Given the description of an element on the screen output the (x, y) to click on. 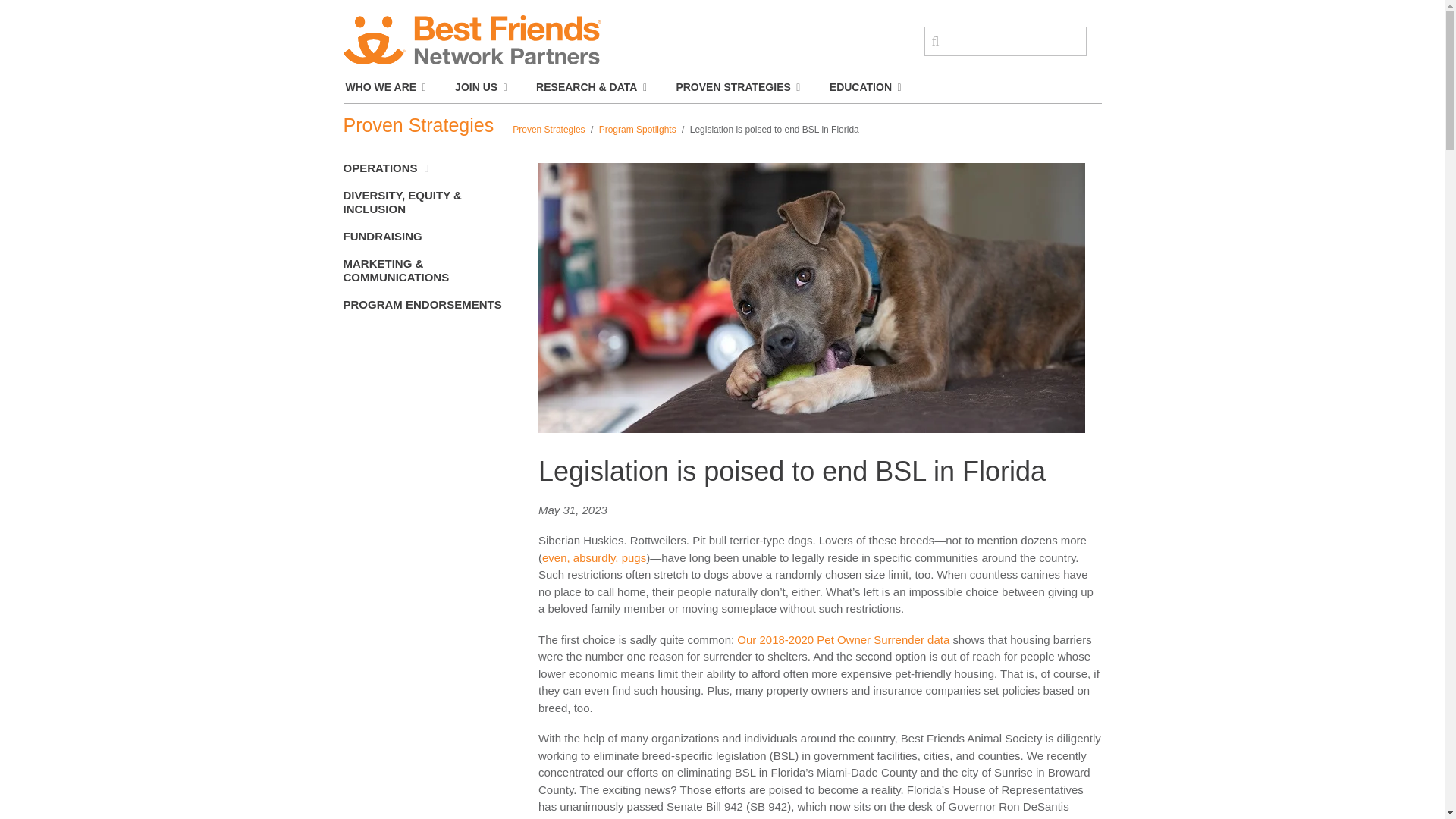
Home (470, 41)
Skip to main content (722, 1)
Enter the terms you wish to search for. (1004, 41)
